Given the description of an element on the screen output the (x, y) to click on. 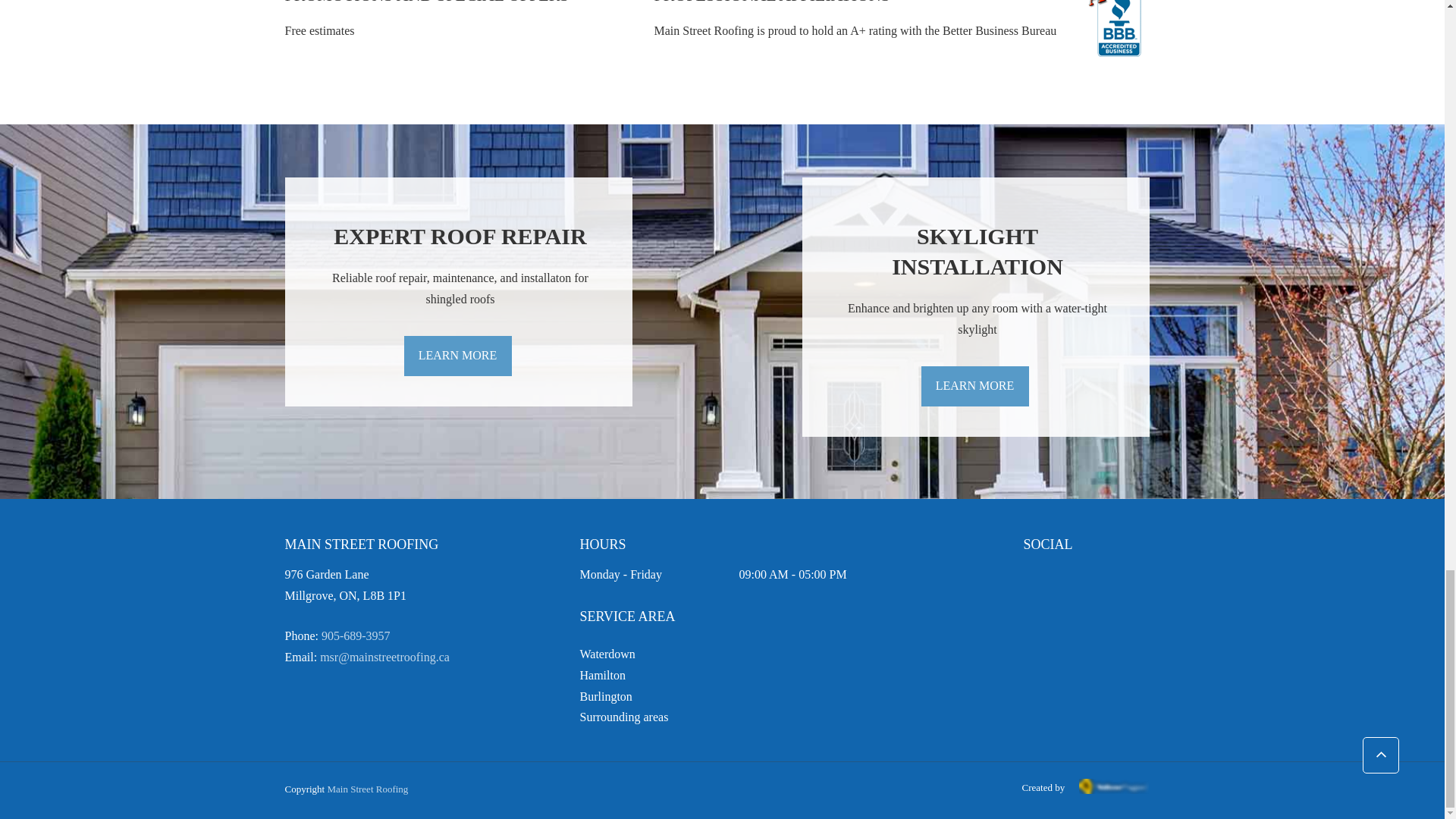
Main Street Roofing (366, 788)
905-689-3957 (355, 635)
LEARN MORE (457, 355)
LEARN MORE (973, 386)
